Given the description of an element on the screen output the (x, y) to click on. 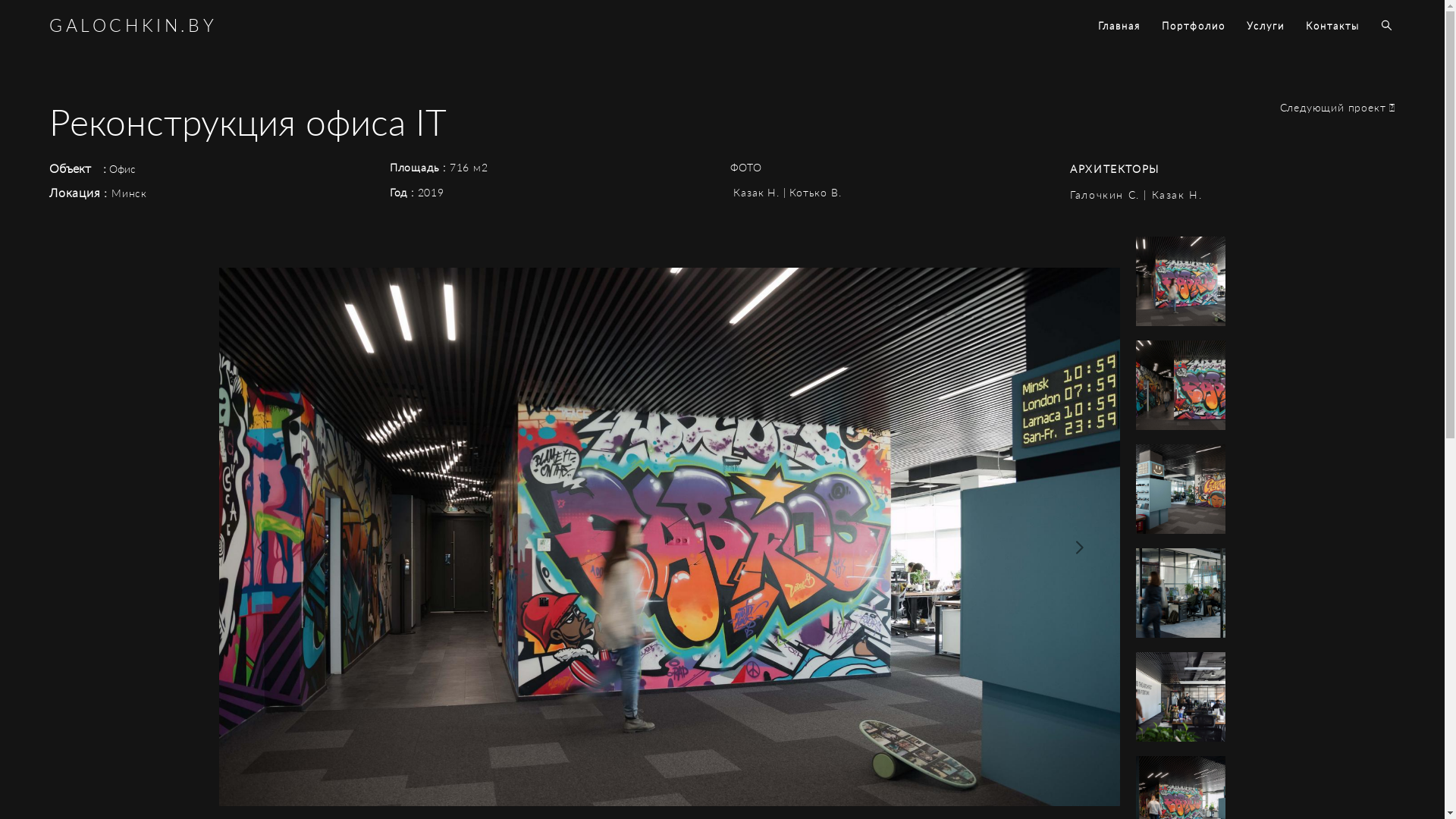
GALOCHKIN.BY Element type: text (132, 25)
